Given the description of an element on the screen output the (x, y) to click on. 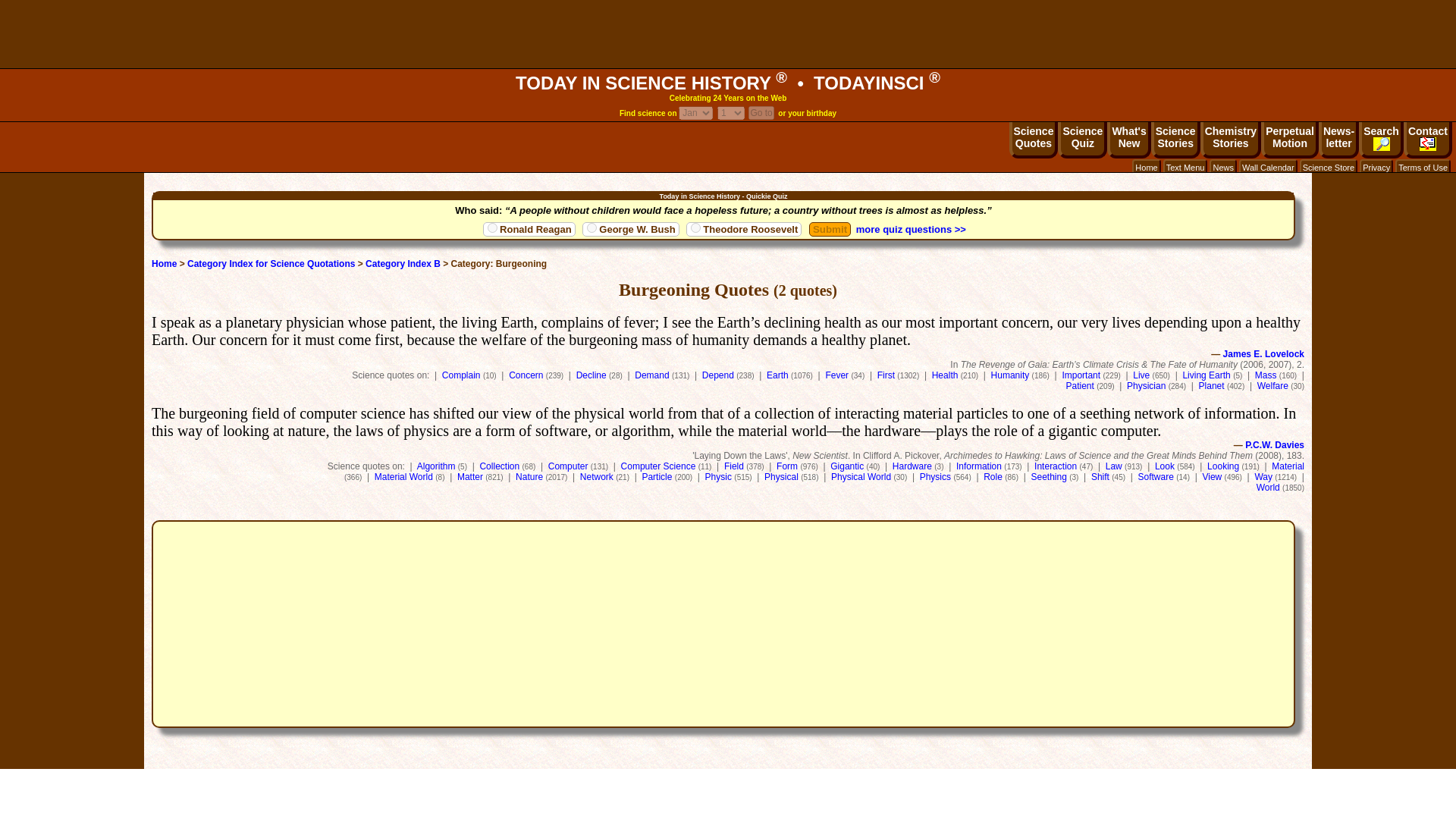
Home (727, 82)
Privacy (1376, 167)
Printable Wall Calendar (1268, 167)
Concern (525, 375)
Feedback or contact us by email (1427, 140)
Submit (829, 228)
Living Earth (1206, 375)
Live (1141, 375)
James E. Lovelock (1263, 353)
Text Menu (1185, 167)
Select Month first (730, 112)
Site map (1185, 167)
Patient (1079, 385)
Demand (1128, 140)
